Given the description of an element on the screen output the (x, y) to click on. 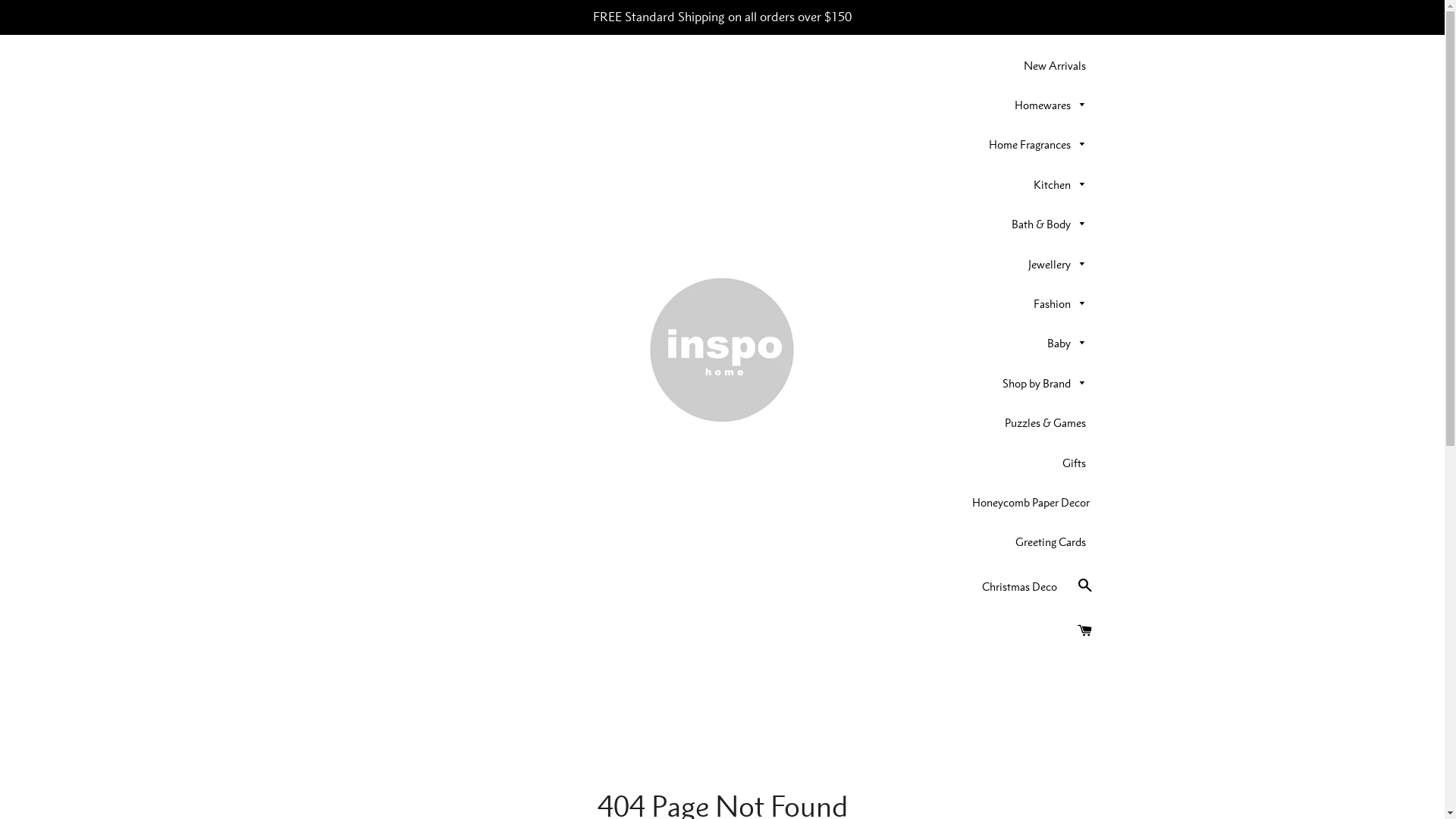
Honeycomb Paper Decor Element type: text (1030, 502)
Search Element type: text (1084, 585)
Gifts Element type: text (1074, 462)
Puzzles & Games Element type: text (1045, 422)
New Arrivals Element type: text (1054, 65)
Site navigation Element type: text (350, 350)
Kitchen Element type: text (1060, 184)
Jewellery Element type: text (1057, 264)
Greeting Cards Element type: text (1050, 541)
Cart Element type: text (1084, 631)
Bath & Body Element type: text (1049, 224)
Home Fragrances Element type: text (1037, 144)
Shop by Brand Element type: text (1044, 383)
Fashion Element type: text (1060, 303)
Baby Element type: text (1066, 343)
Christmas Deco Element type: text (1019, 586)
Homewares Element type: text (1050, 105)
